Given the description of an element on the screen output the (x, y) to click on. 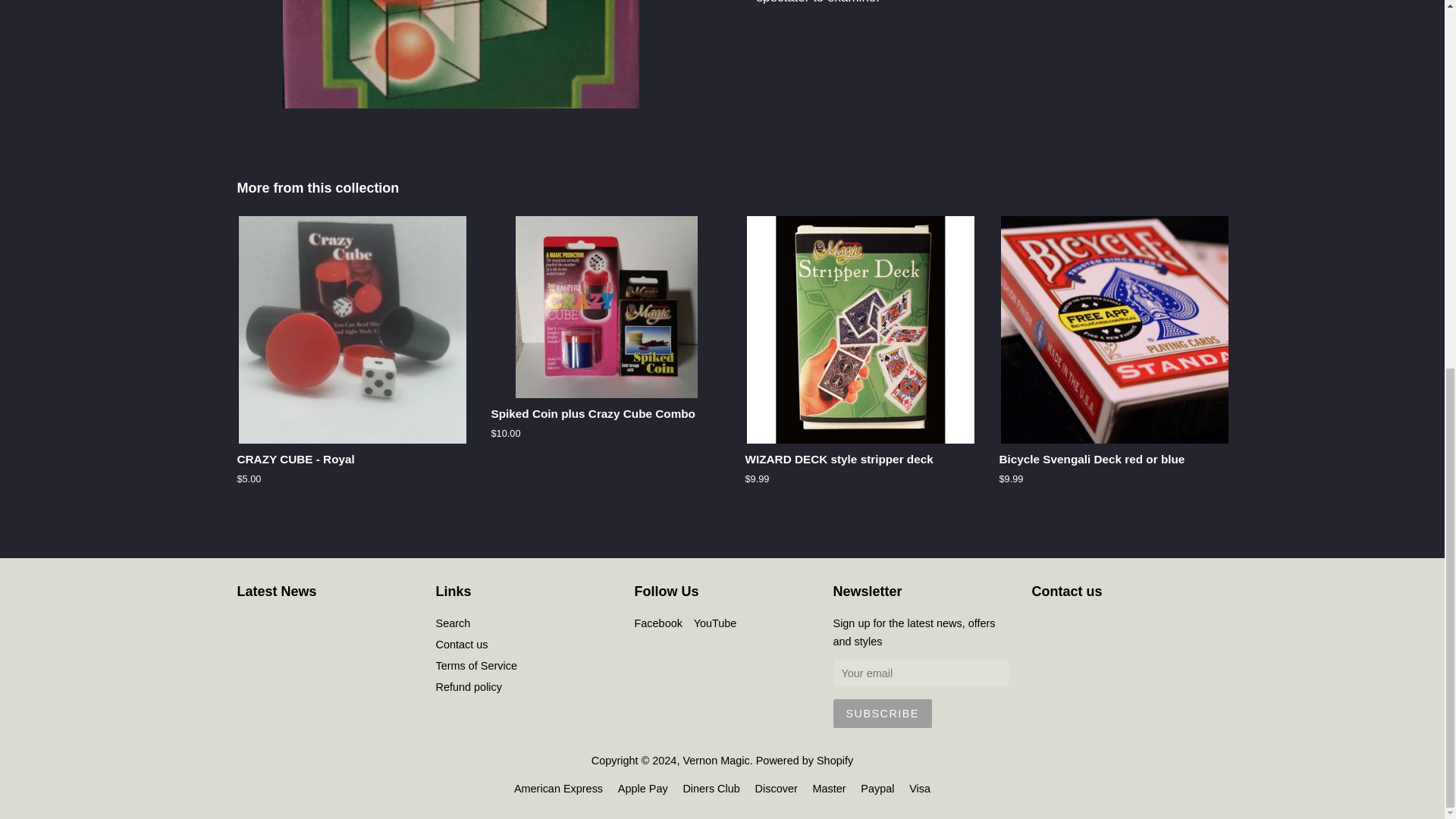
Contact us (461, 644)
Vernon Magic on Facebook (657, 623)
Subscribe (881, 713)
Latest News (275, 590)
Vernon Magic on YouTube (715, 623)
Search (452, 623)
